Given the description of an element on the screen output the (x, y) to click on. 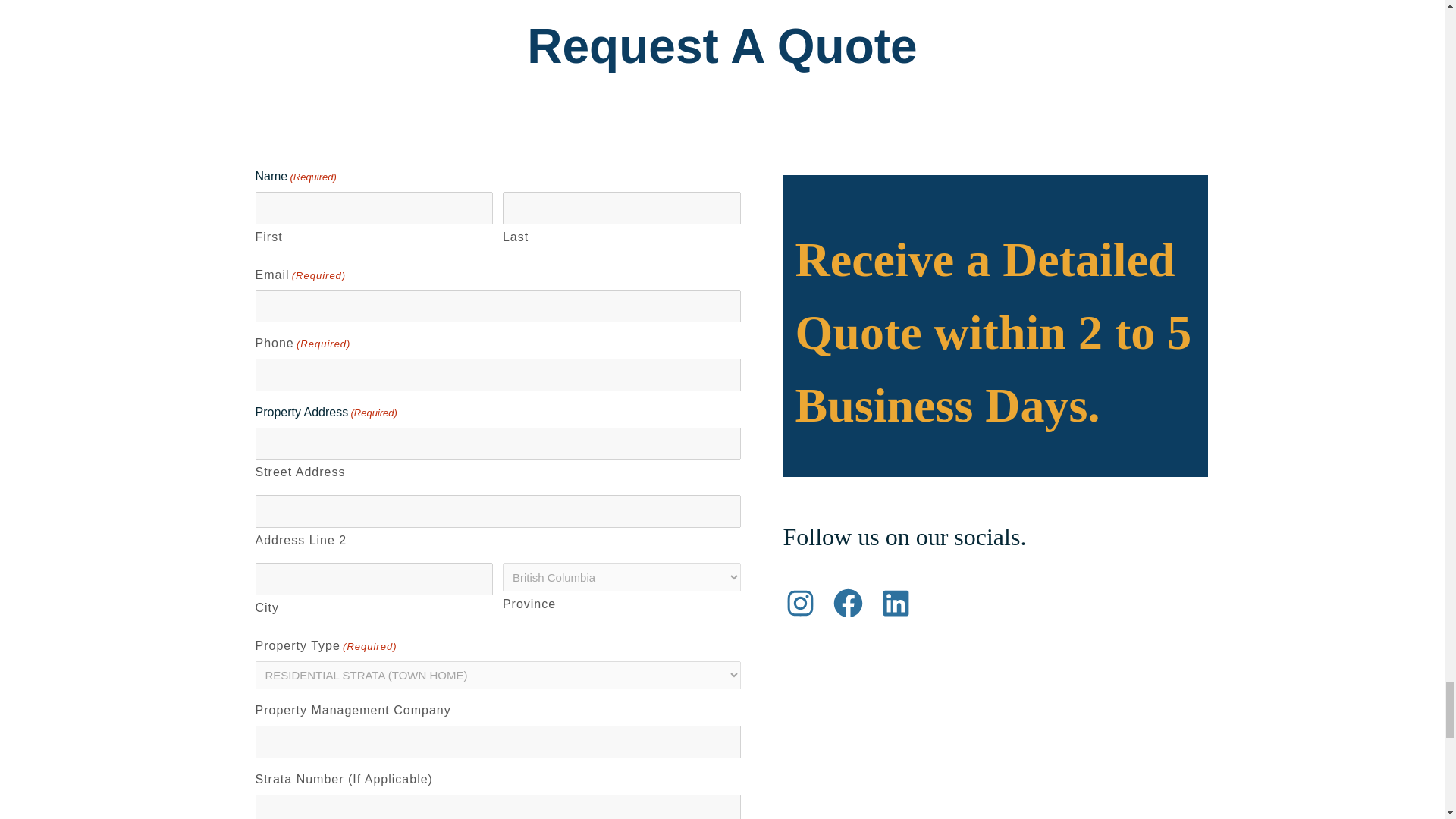
Facebook (847, 602)
LinkedIn (894, 602)
Instagram (799, 602)
